Given the description of an element on the screen output the (x, y) to click on. 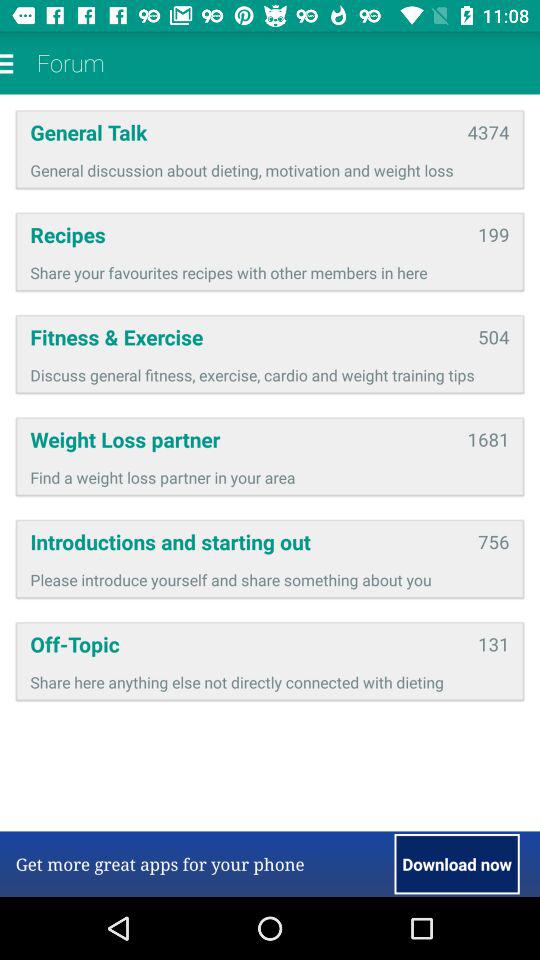
flip to download now icon (456, 863)
